Given the description of an element on the screen output the (x, y) to click on. 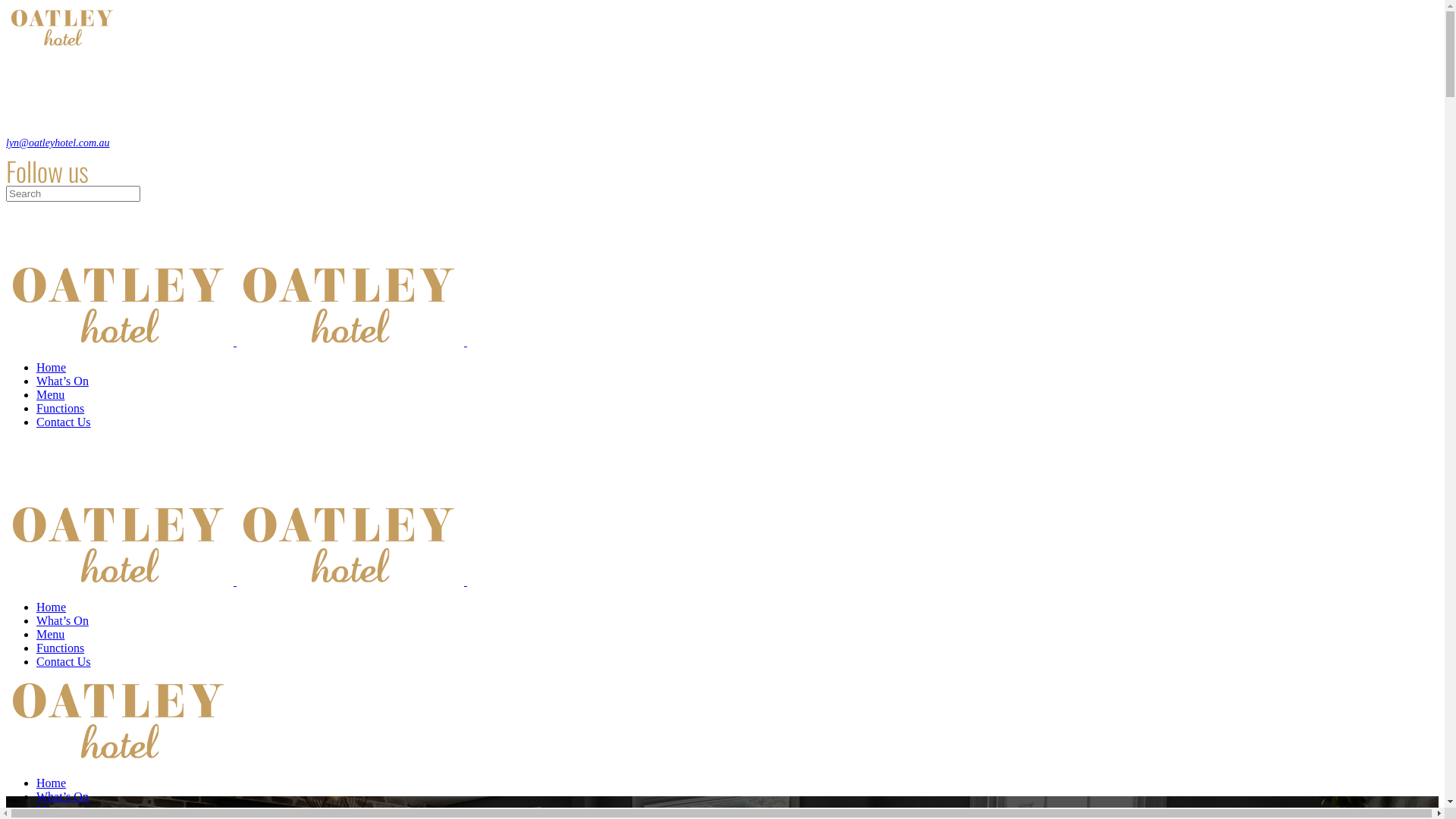
Functions Element type: text (60, 407)
Contact Us Element type: text (63, 421)
Home Element type: text (50, 782)
Home Element type: text (50, 606)
Menu Element type: text (50, 394)
lyn@oatleyhotel.com.au Element type: text (57, 142)
Functions Element type: text (60, 647)
Menu Element type: text (50, 809)
Home Element type: text (50, 366)
Contact Us Element type: text (63, 661)
Menu Element type: text (50, 633)
